Given the description of an element on the screen output the (x, y) to click on. 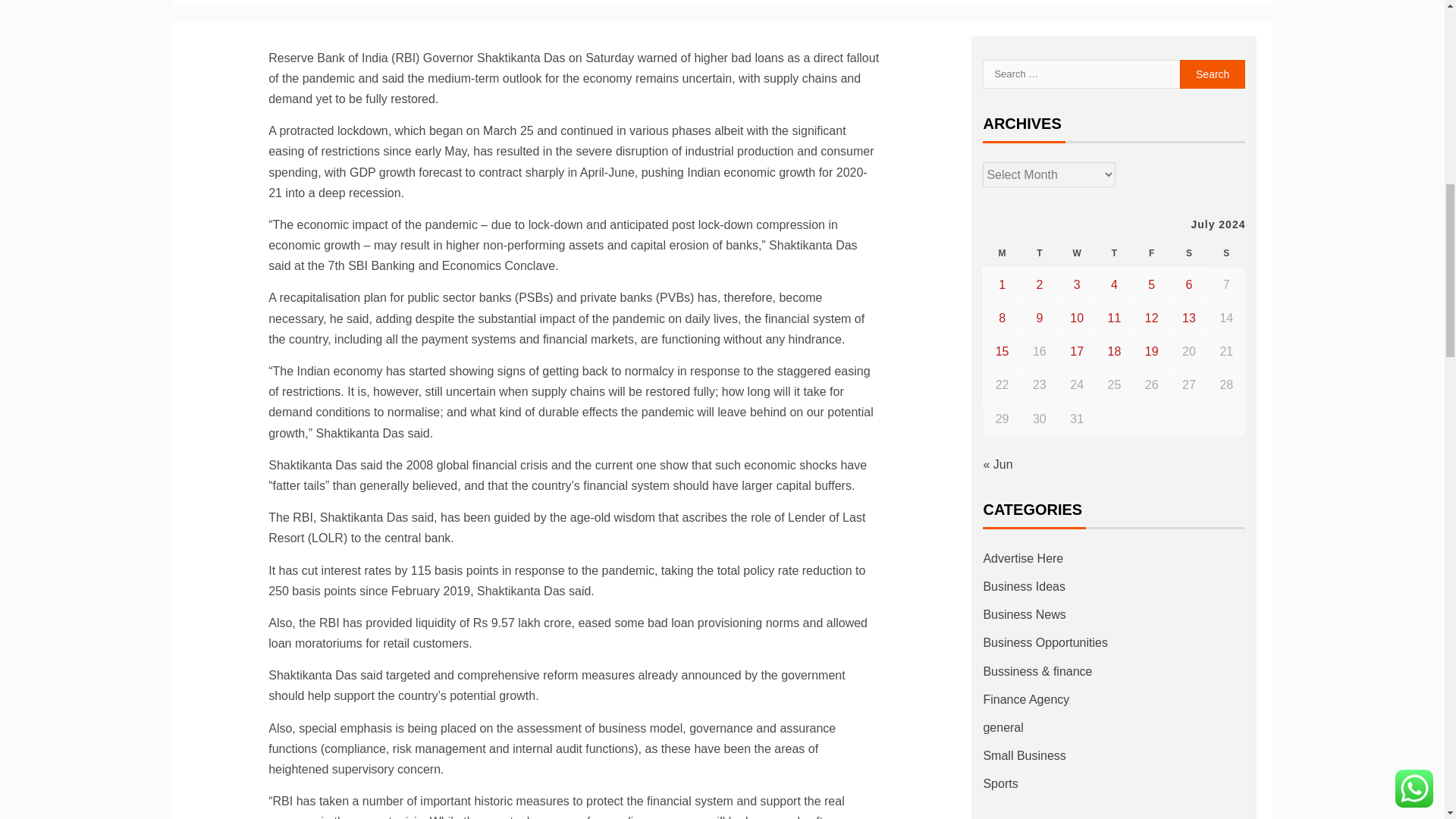
Search (1212, 73)
Search (1212, 73)
